Given the description of an element on the screen output the (x, y) to click on. 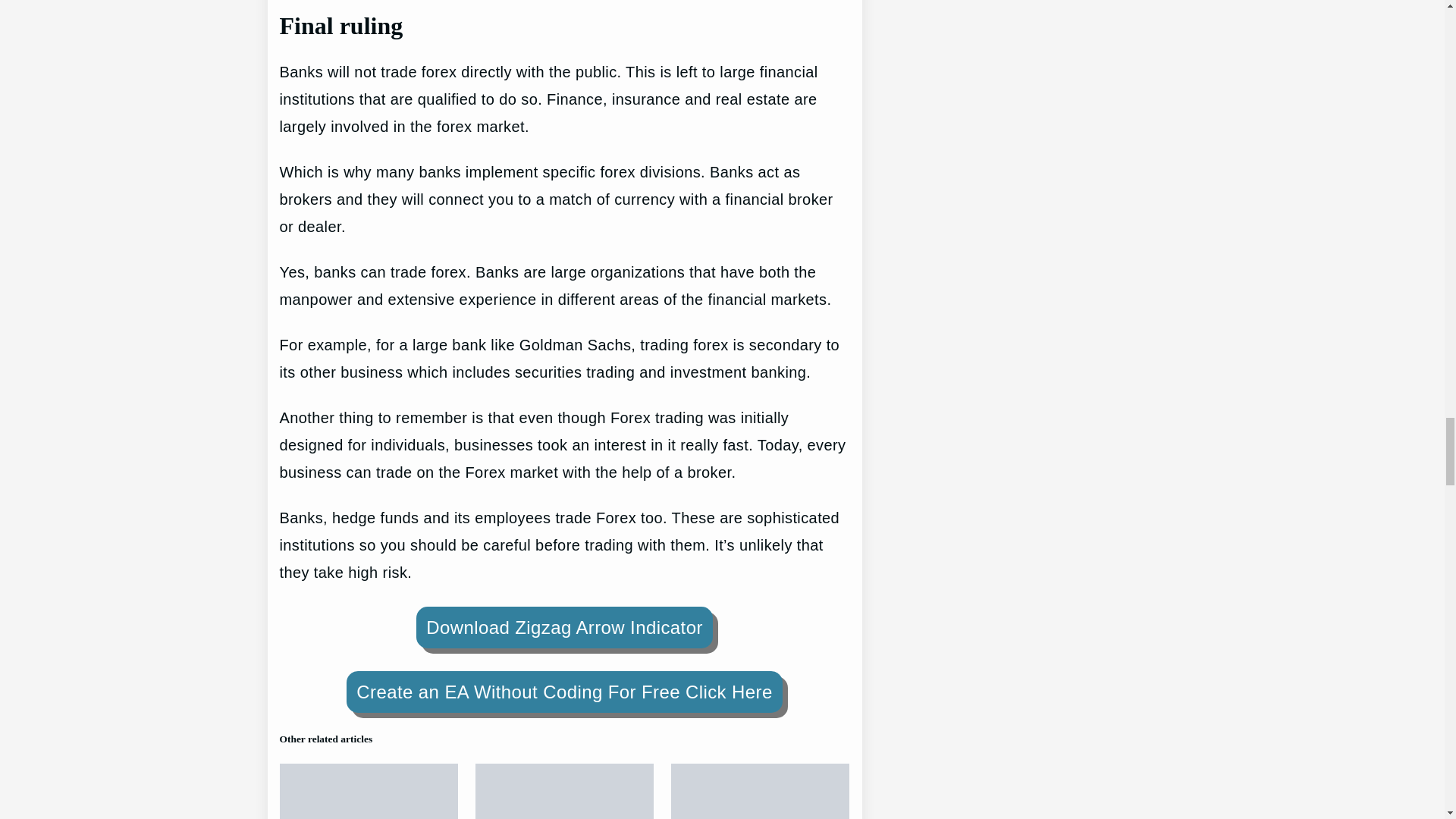
Download Zigzag Arrow Indicator (564, 627)
Create an EA Without Coding For Free Click Here (563, 691)
